Given the description of an element on the screen output the (x, y) to click on. 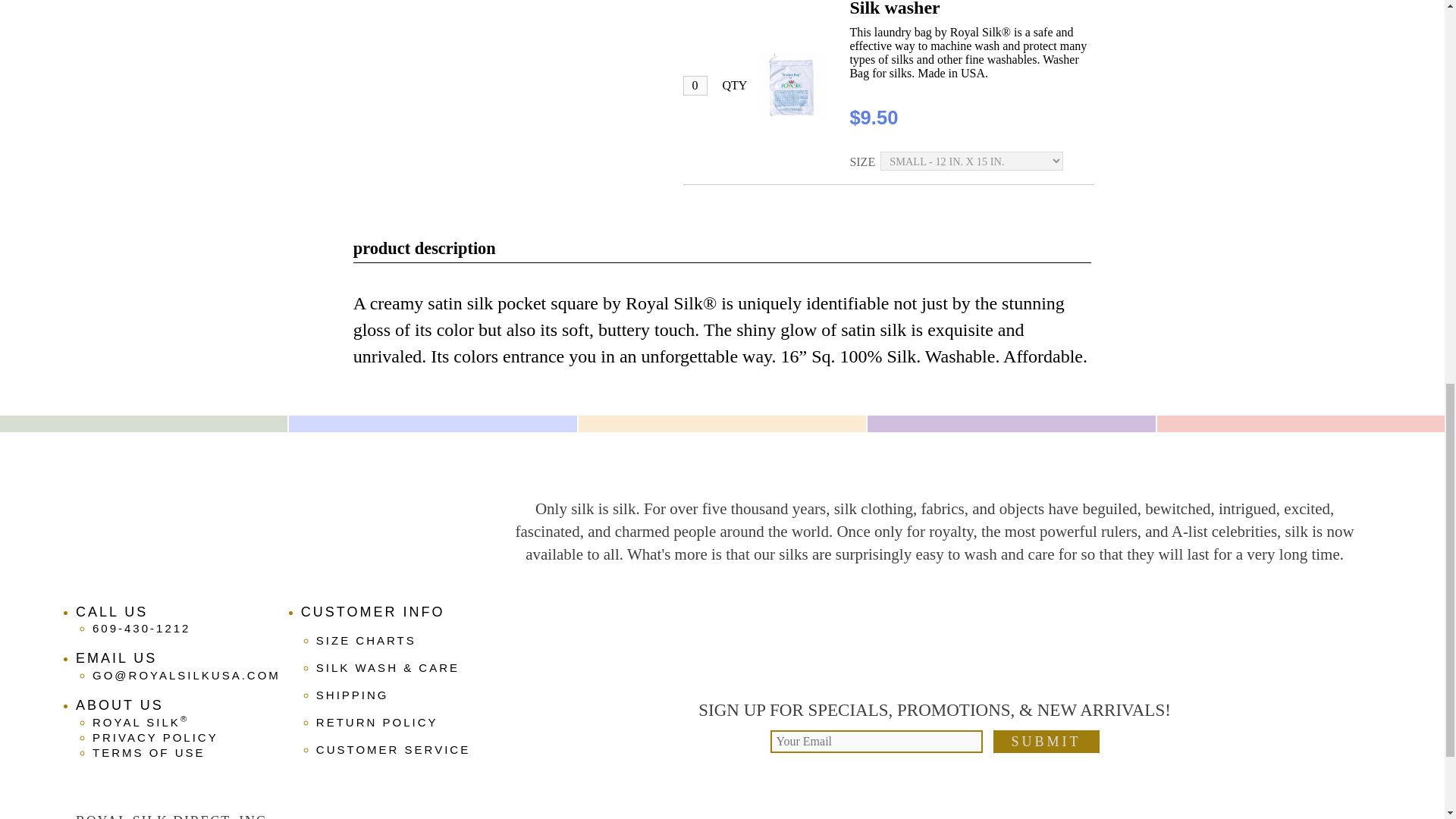
Silk washer (893, 8)
0 (694, 85)
